Given the description of an element on the screen output the (x, y) to click on. 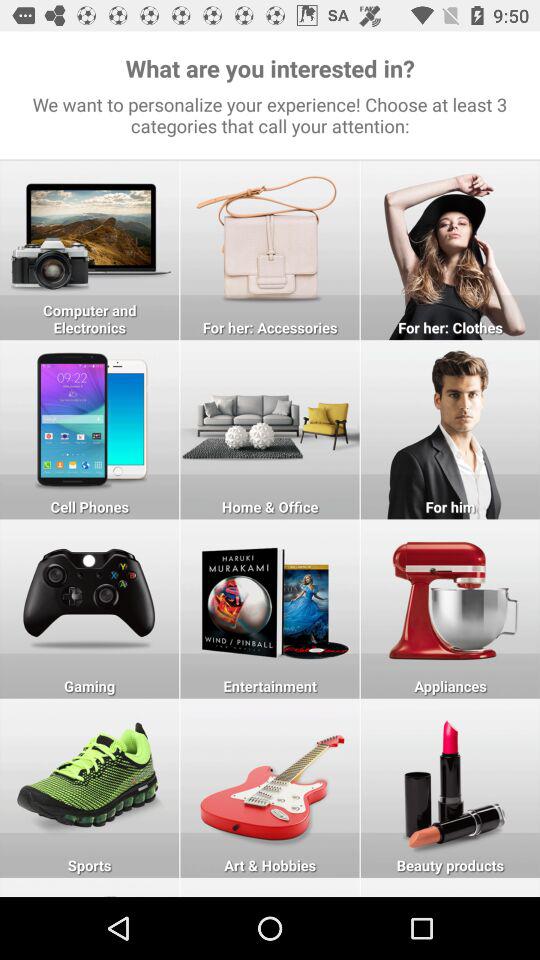
choose the selection (89, 250)
